Given the description of an element on the screen output the (x, y) to click on. 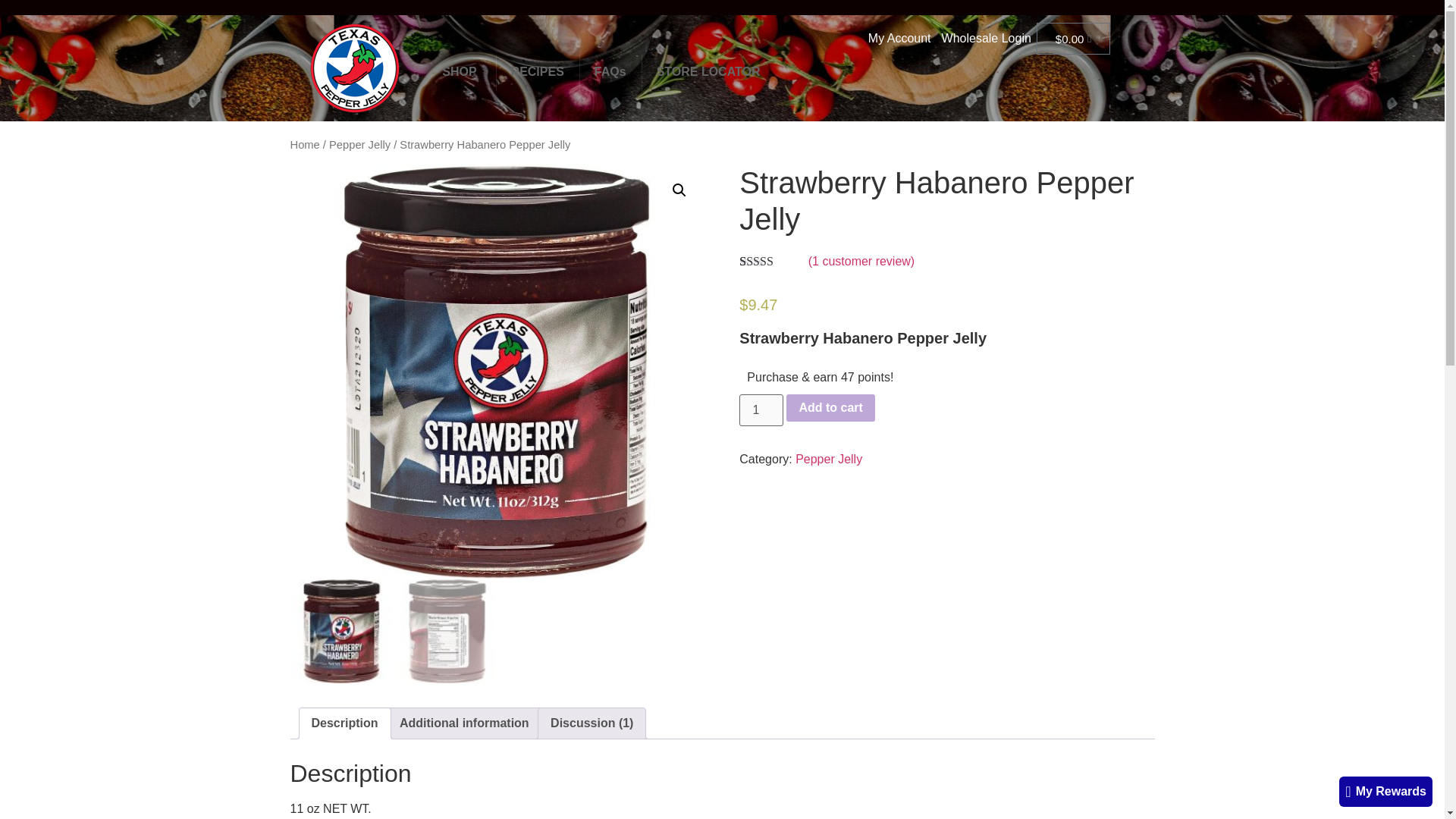
STORE LOCATOR (709, 72)
SHOP (460, 72)
Additional information (784, 72)
Wholesale Login (463, 723)
Add to cart (986, 38)
Description (830, 407)
Home (344, 723)
Texas Pepper Jelly Strawberry Habanero (303, 144)
